Given the description of an element on the screen output the (x, y) to click on. 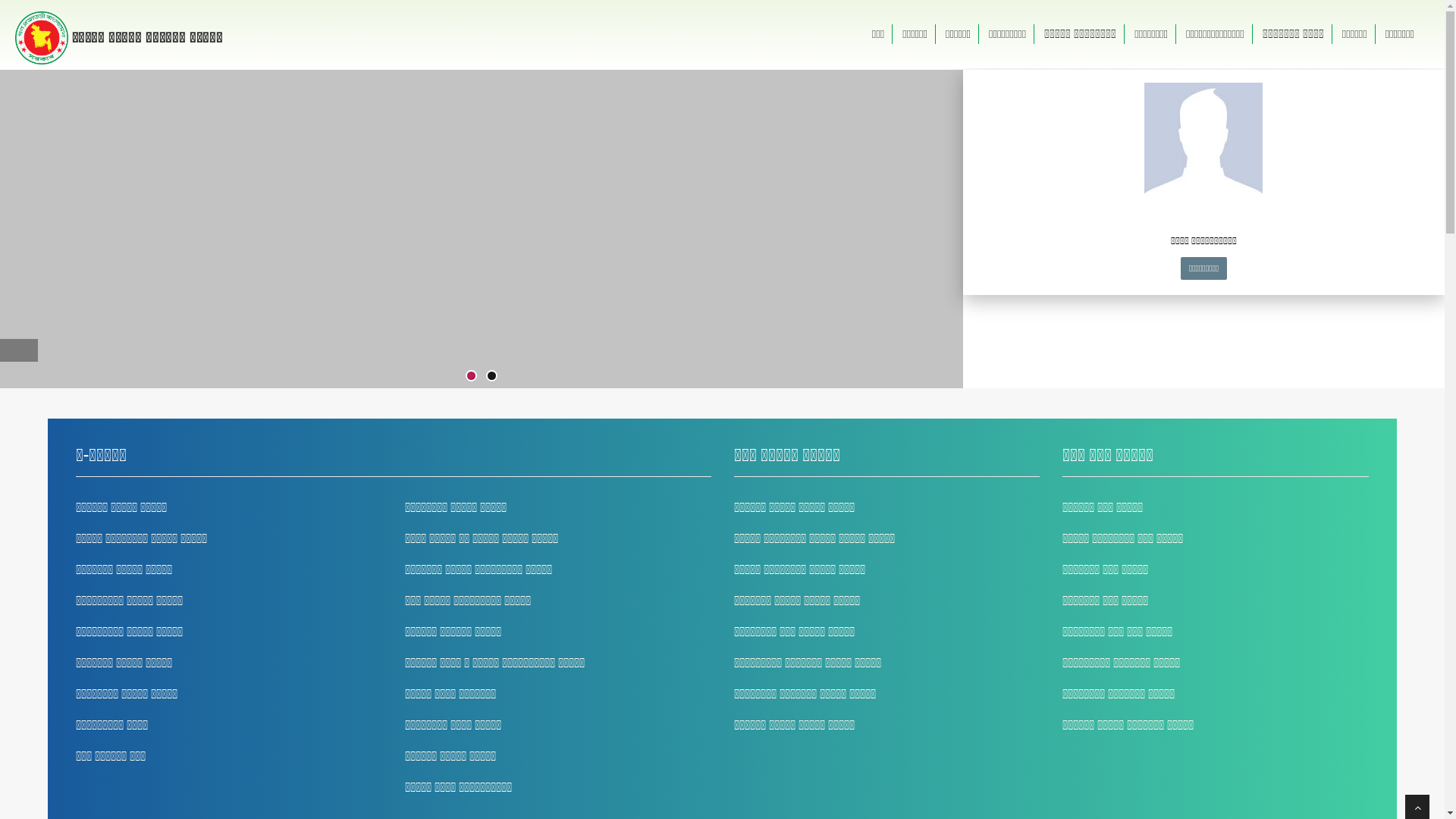
1 Element type: text (471, 375)
2 Element type: text (491, 375)
